Given the description of an element on the screen output the (x, y) to click on. 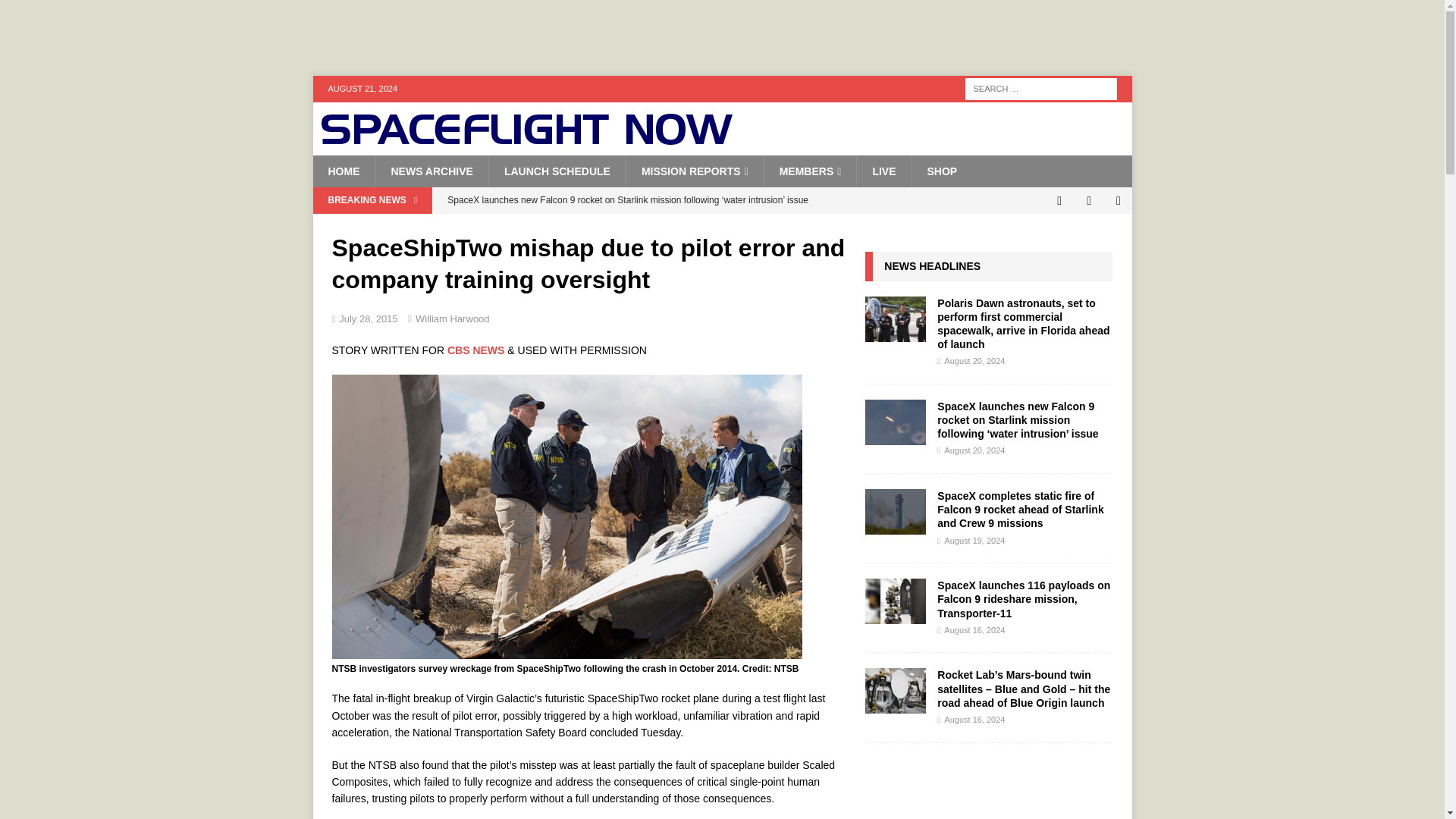
Spaceflight Now (526, 139)
MISSION REPORTS (694, 171)
MEMBERS (809, 171)
LAUNCH SCHEDULE (556, 171)
NEWS ARCHIVE (430, 171)
Search (56, 11)
HOME (343, 171)
